Given the description of an element on the screen output the (x, y) to click on. 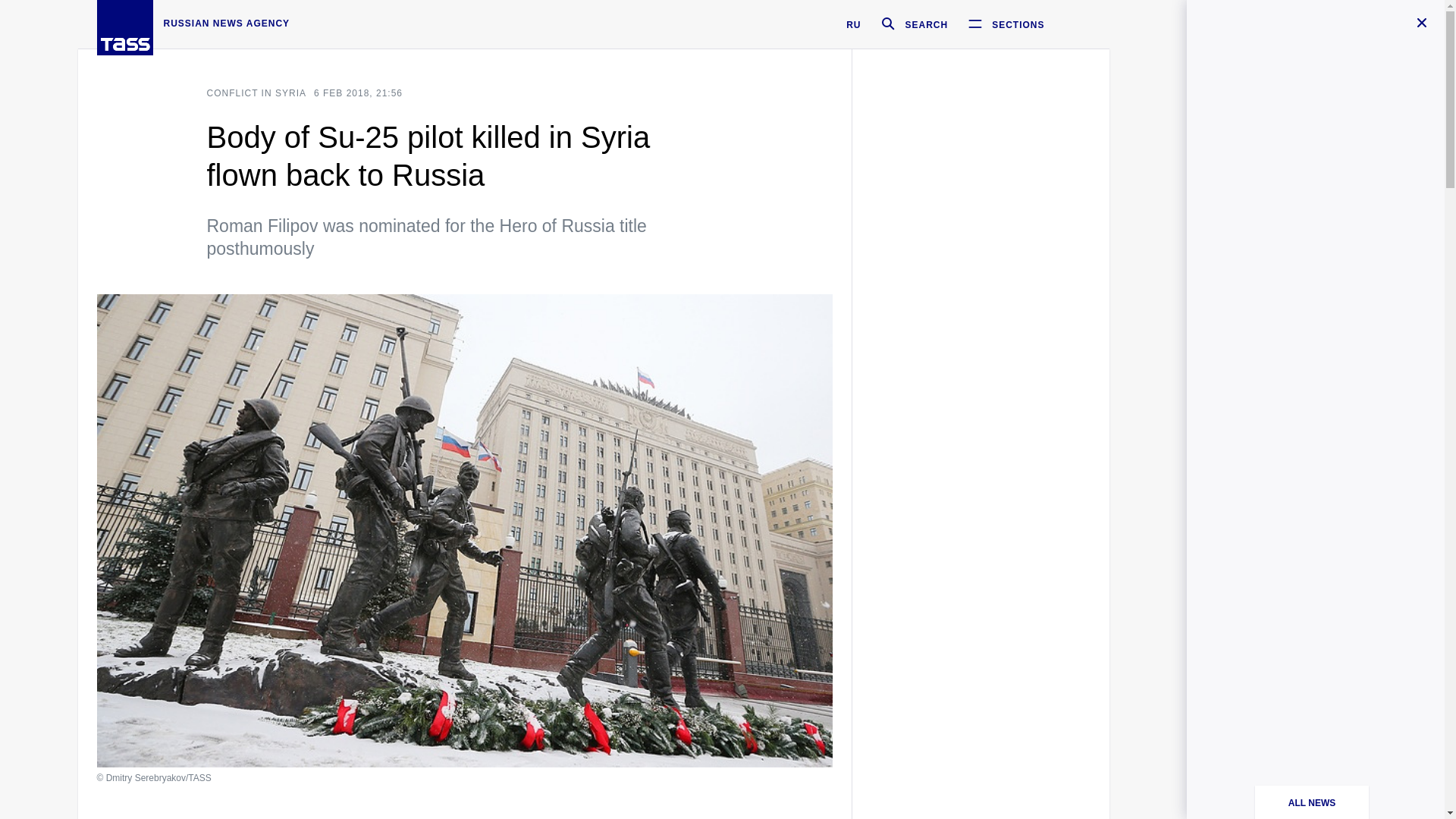
SEARCH (908, 24)
RU (852, 24)
